Given the description of an element on the screen output the (x, y) to click on. 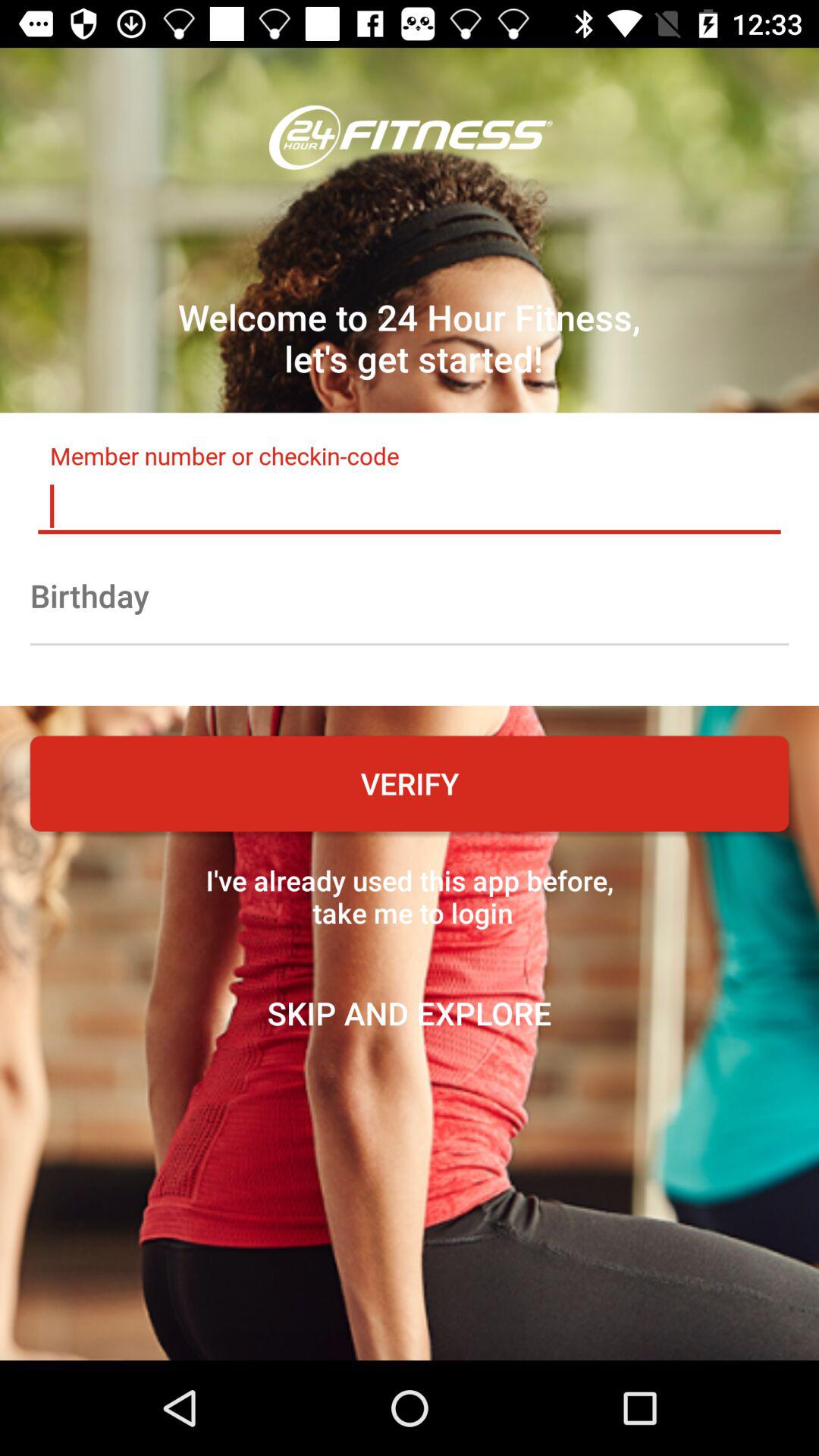
enter birthday (409, 595)
